Given the description of an element on the screen output the (x, y) to click on. 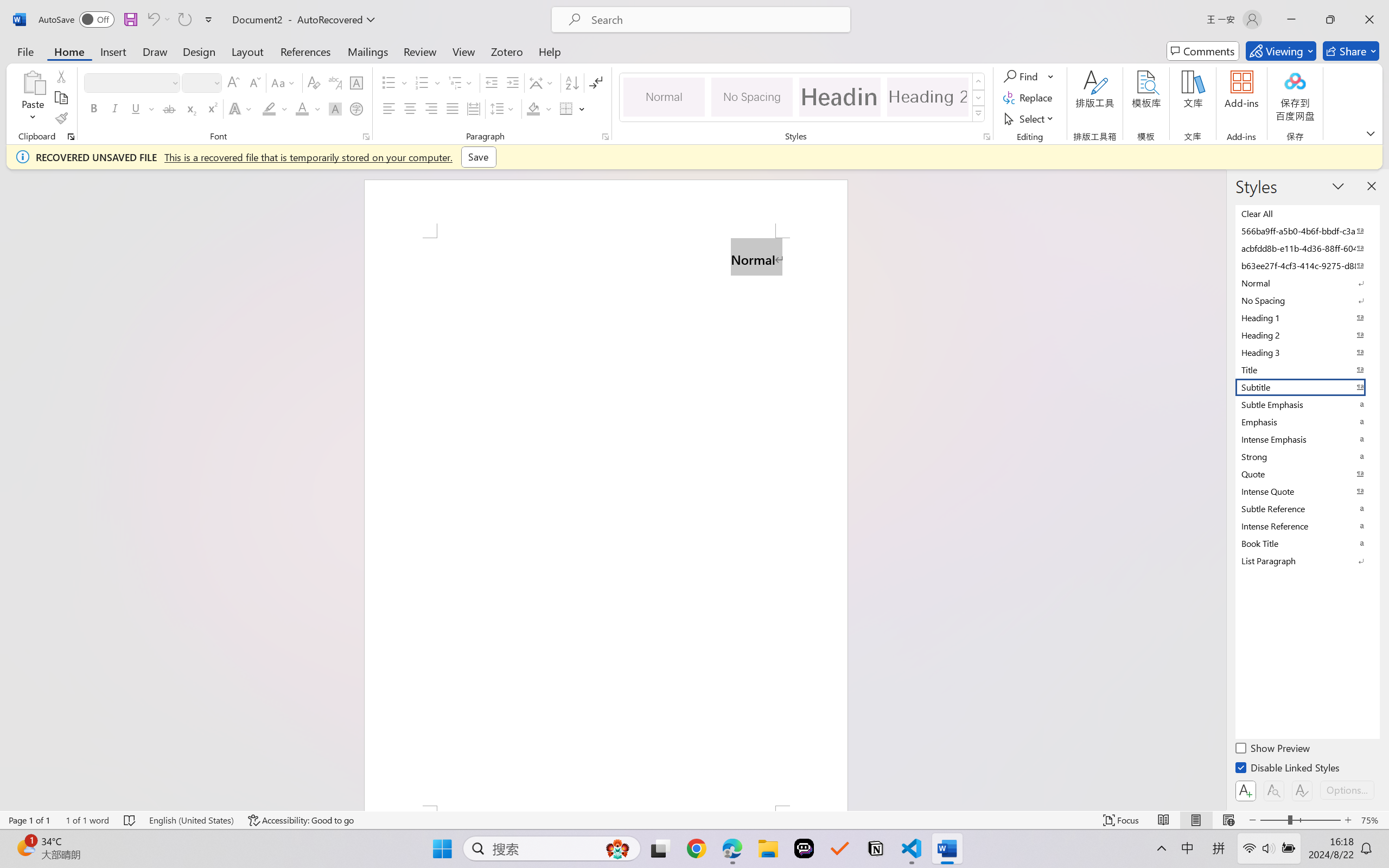
Text Highlight Color Yellow (269, 108)
Distributed (473, 108)
No Spacing (1306, 300)
Italic (115, 108)
Multilevel List (461, 82)
566ba9ff-a5b0-4b6f-bbdf-c3ab41993fc2 (1306, 230)
